Given the description of an element on the screen output the (x, y) to click on. 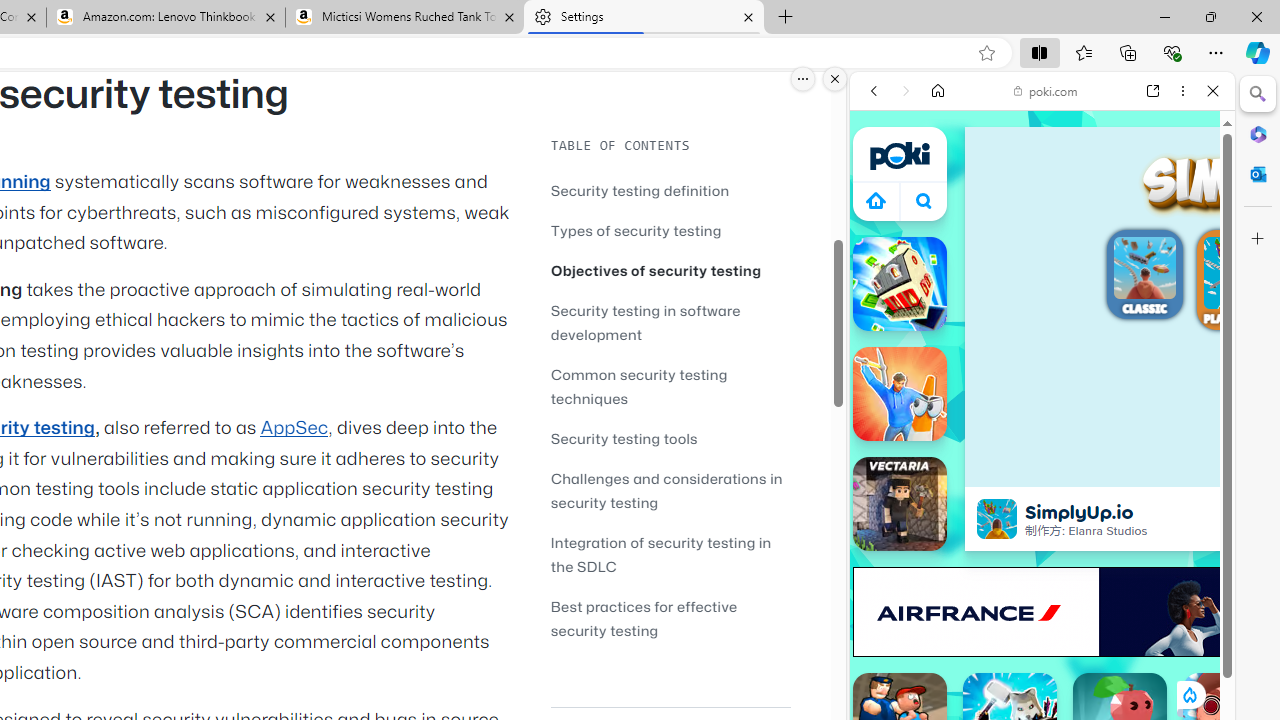
Integration of security testing in the SDLC (670, 553)
AppSec (293, 428)
Shooting Games (1042, 519)
Class: B_5ykBA46kDOxiz_R9wm (923, 200)
Integration of security testing in the SDLC (660, 554)
Vectaria.io Vectaria.io (899, 503)
poki.com (1046, 90)
Common security testing techniques (639, 385)
More options. (803, 79)
